Given the description of an element on the screen output the (x, y) to click on. 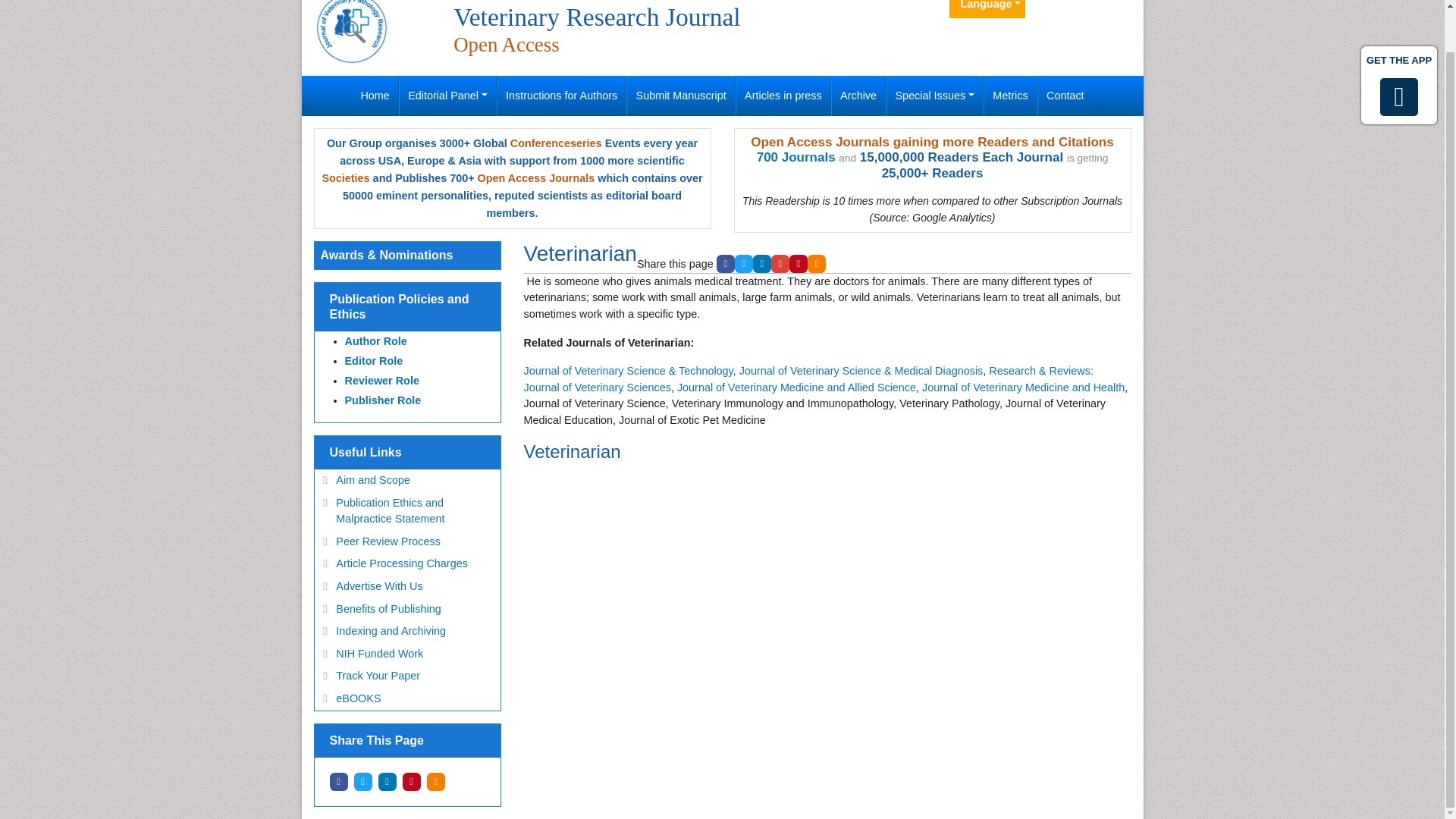
Language (987, 9)
Instructions for Authors (561, 96)
Submit Manuscript (681, 96)
Editorial Panel (447, 96)
Home (374, 96)
Veterinary Research Journal (352, 26)
Articles in press (782, 96)
